Given the description of an element on the screen output the (x, y) to click on. 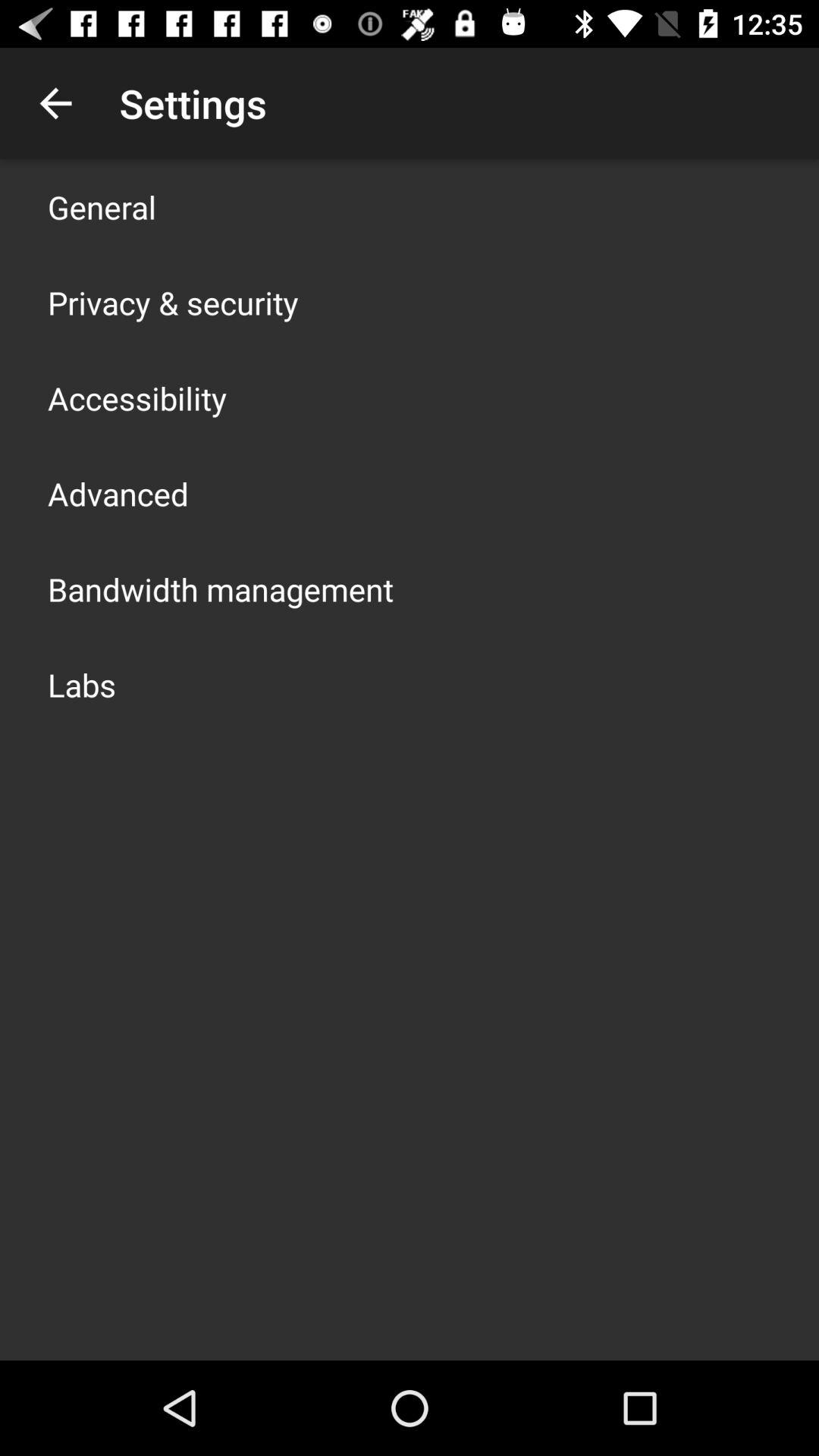
turn on the item above bandwidth management (117, 493)
